Given the description of an element on the screen output the (x, y) to click on. 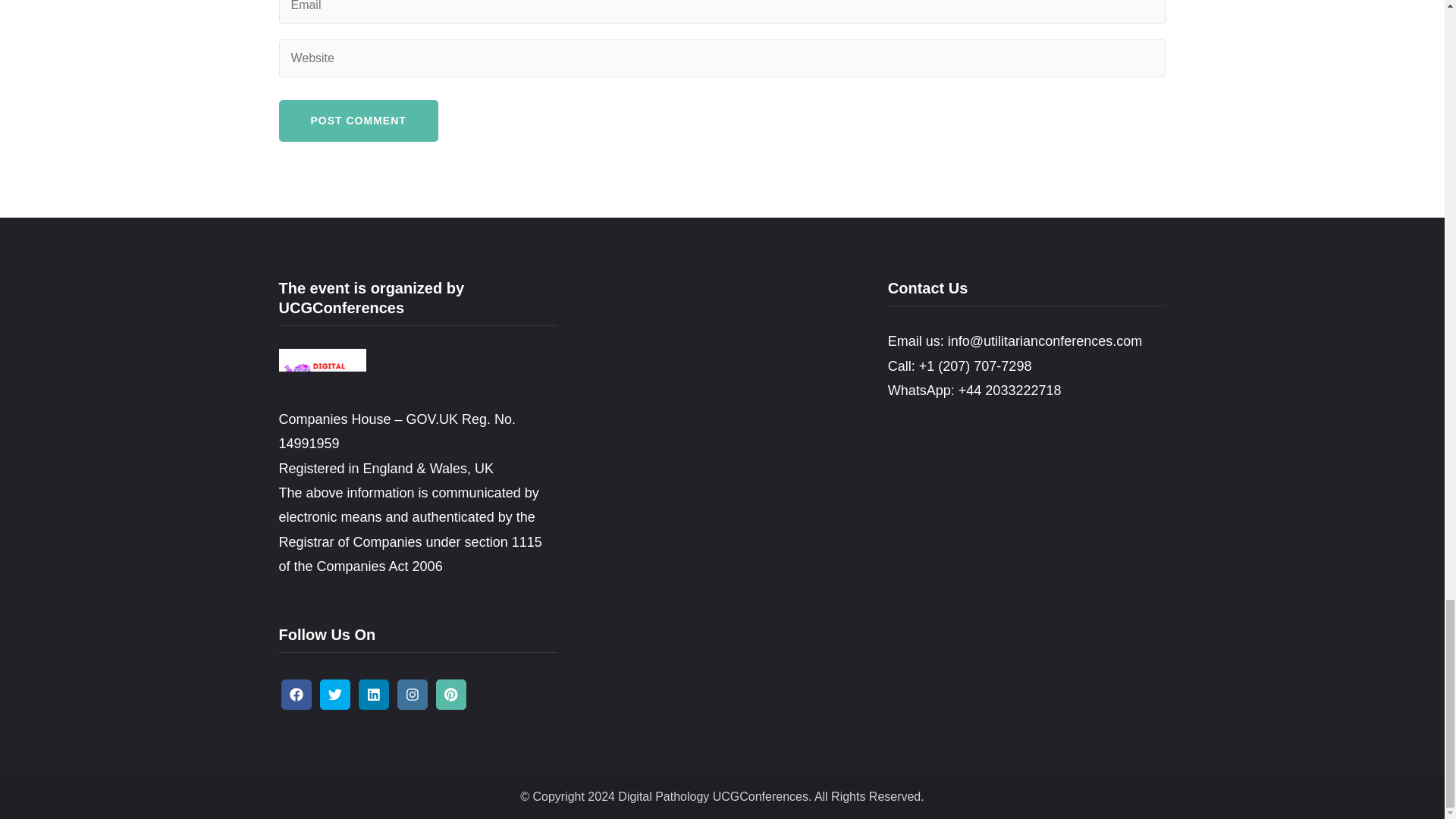
Post Comment (358, 120)
twitter (335, 694)
pinterest (450, 694)
linkedin (373, 694)
facebook (296, 694)
instagram (412, 694)
